Given the description of an element on the screen output the (x, y) to click on. 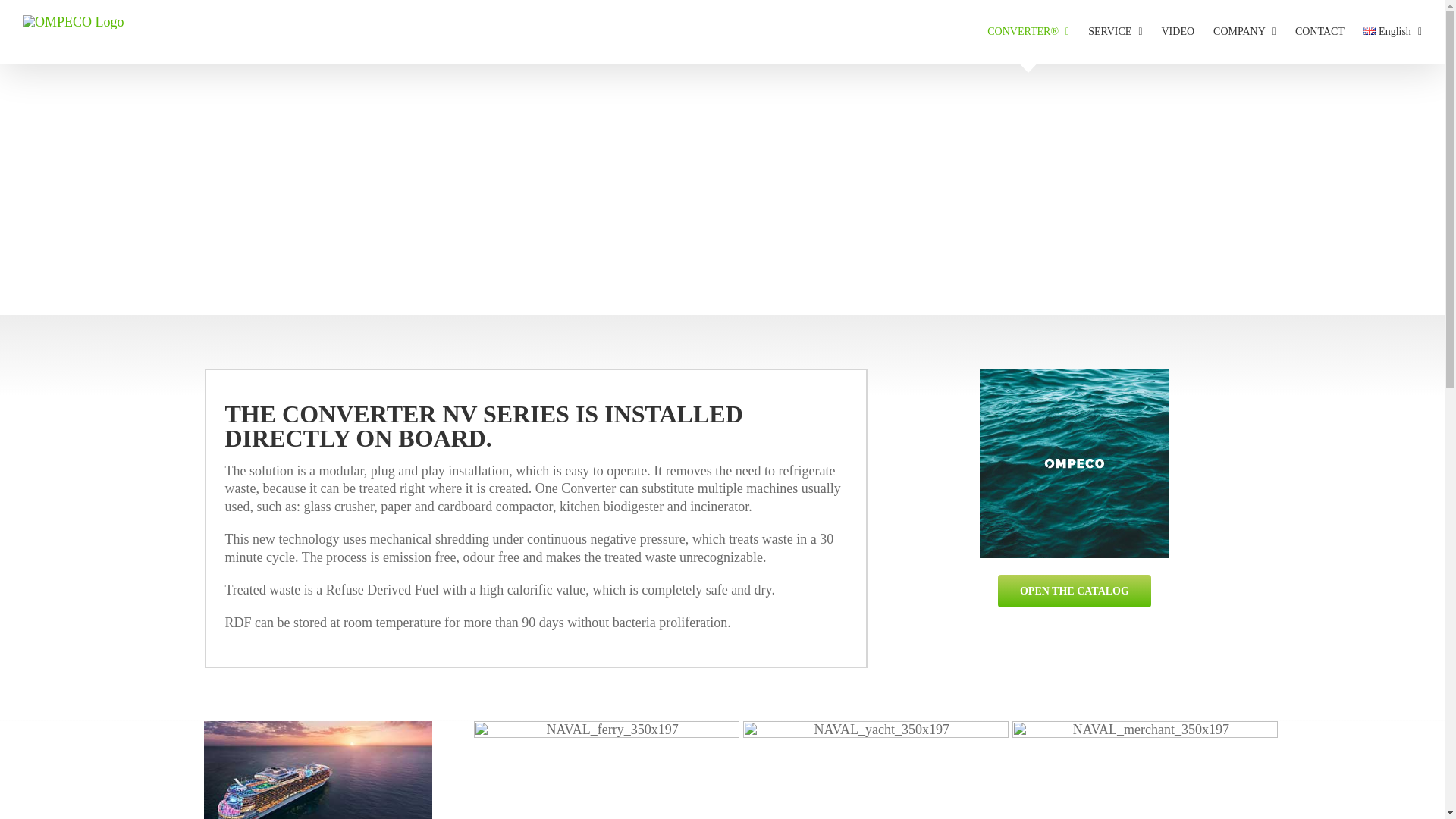
English (1392, 31)
COMPANY (1244, 31)
